Given the description of an element on the screen output the (x, y) to click on. 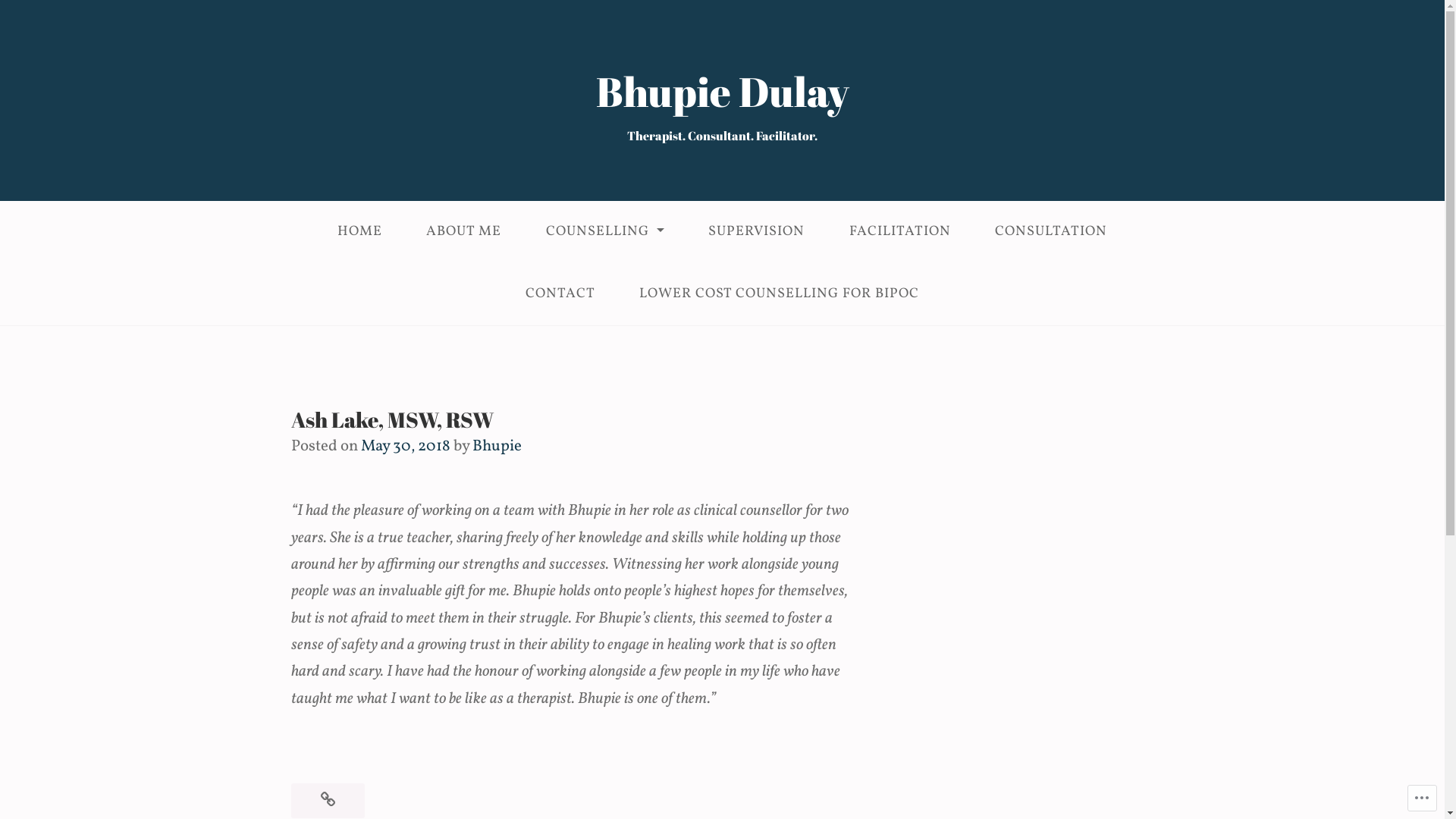
COUNSELLING Element type: text (604, 231)
Bhupie Element type: text (496, 446)
SUPERVISION Element type: text (756, 231)
CONSULTATION Element type: text (1051, 231)
HOME Element type: text (359, 231)
ABOUT ME Element type: text (463, 231)
FACILITATION Element type: text (900, 231)
LOWER COST COUNSELLING FOR BIPOC Element type: text (779, 294)
May 30, 2018 Element type: text (405, 446)
CONTACT Element type: text (559, 294)
Bhupie Dulay Element type: text (722, 91)
